Given the description of an element on the screen output the (x, y) to click on. 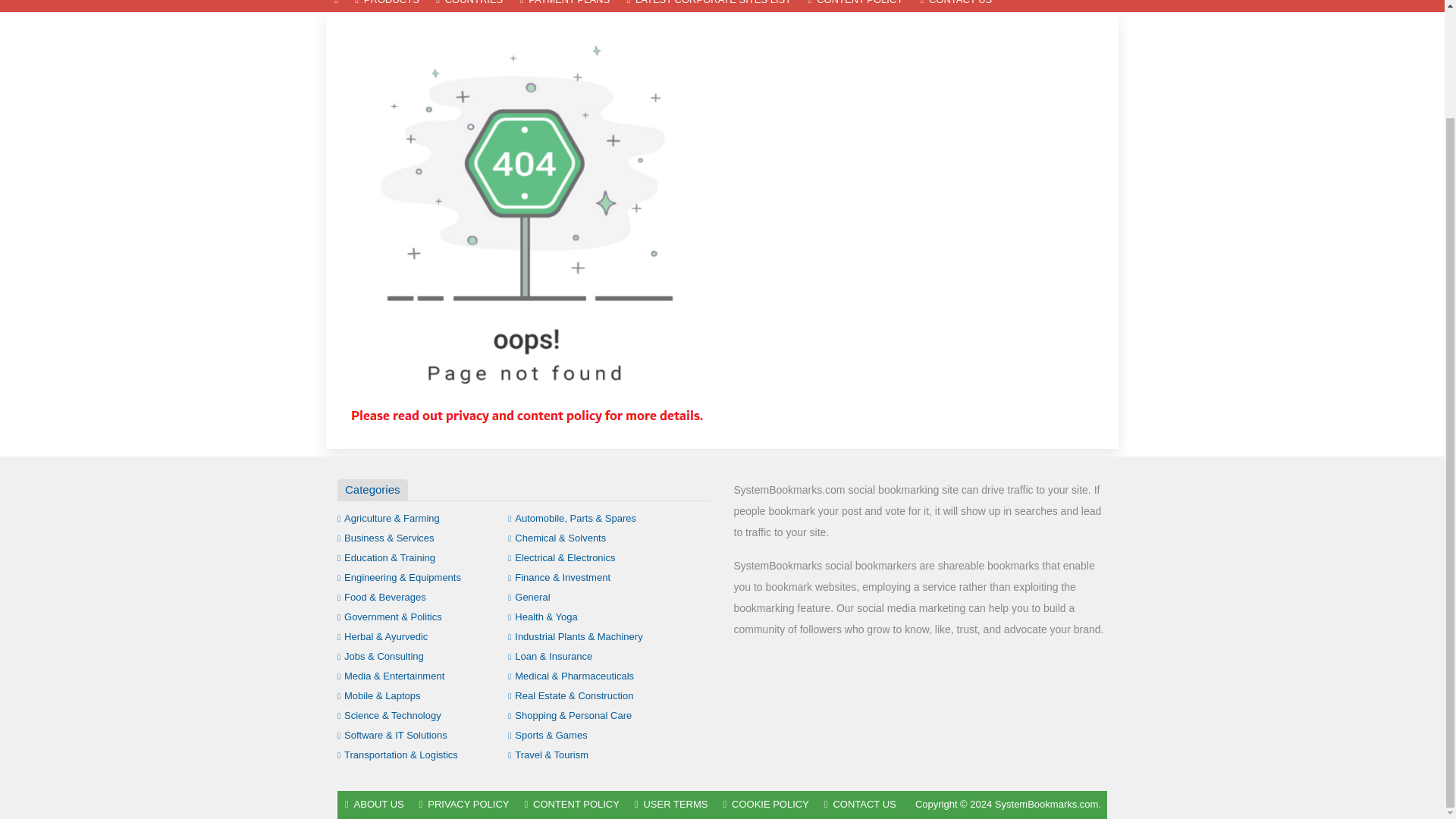
COUNTRIES (469, 6)
LATEST CORPORATE SITES LIST (708, 6)
CONTENT POLICY (855, 6)
General (529, 596)
CONTACT US (955, 6)
PAYMENT PLANS (564, 6)
PRODUCTS (387, 6)
HOME (336, 6)
